Given the description of an element on the screen output the (x, y) to click on. 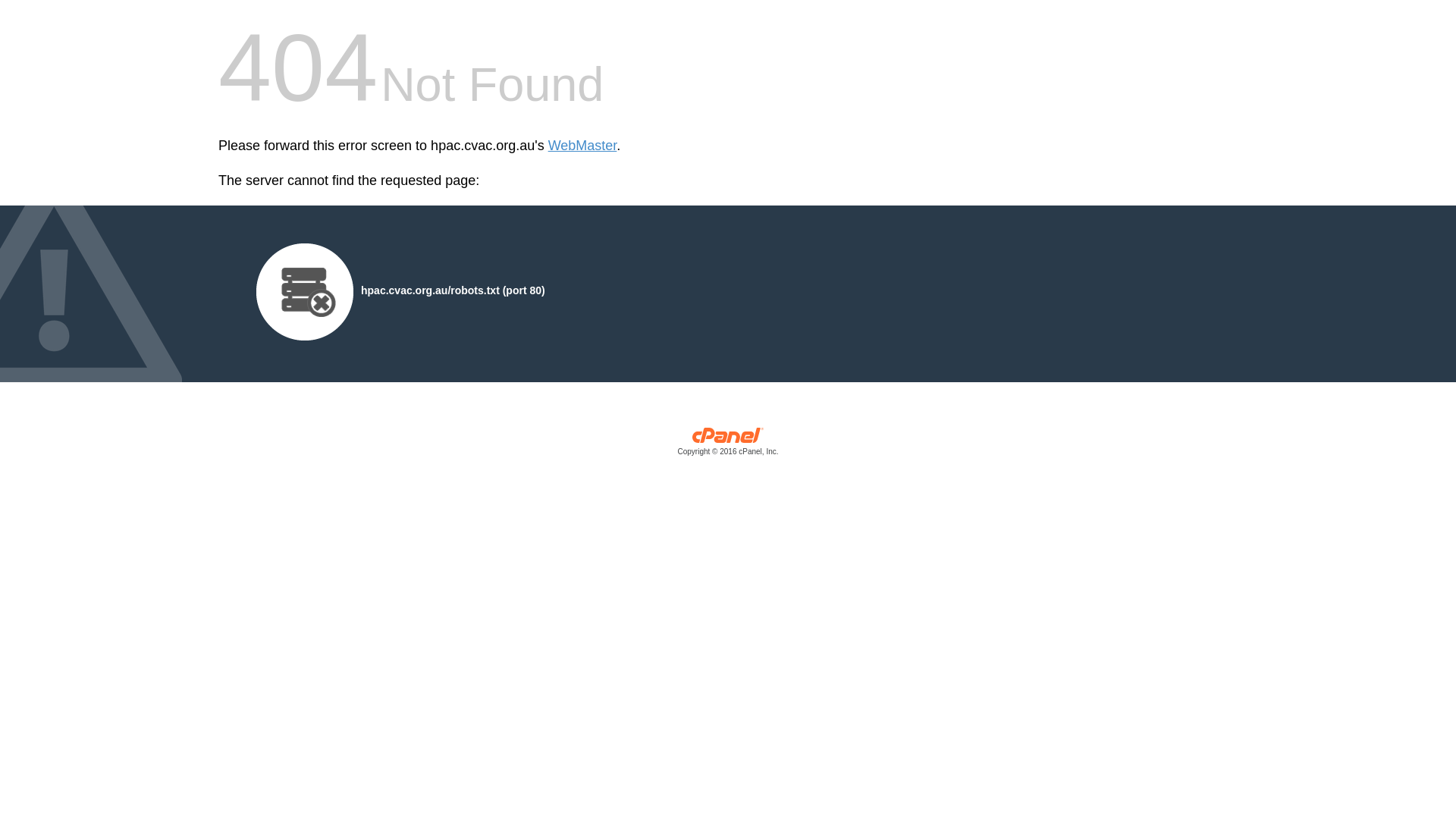
WebMaster Element type: text (582, 145)
